Given the description of an element on the screen output the (x, y) to click on. 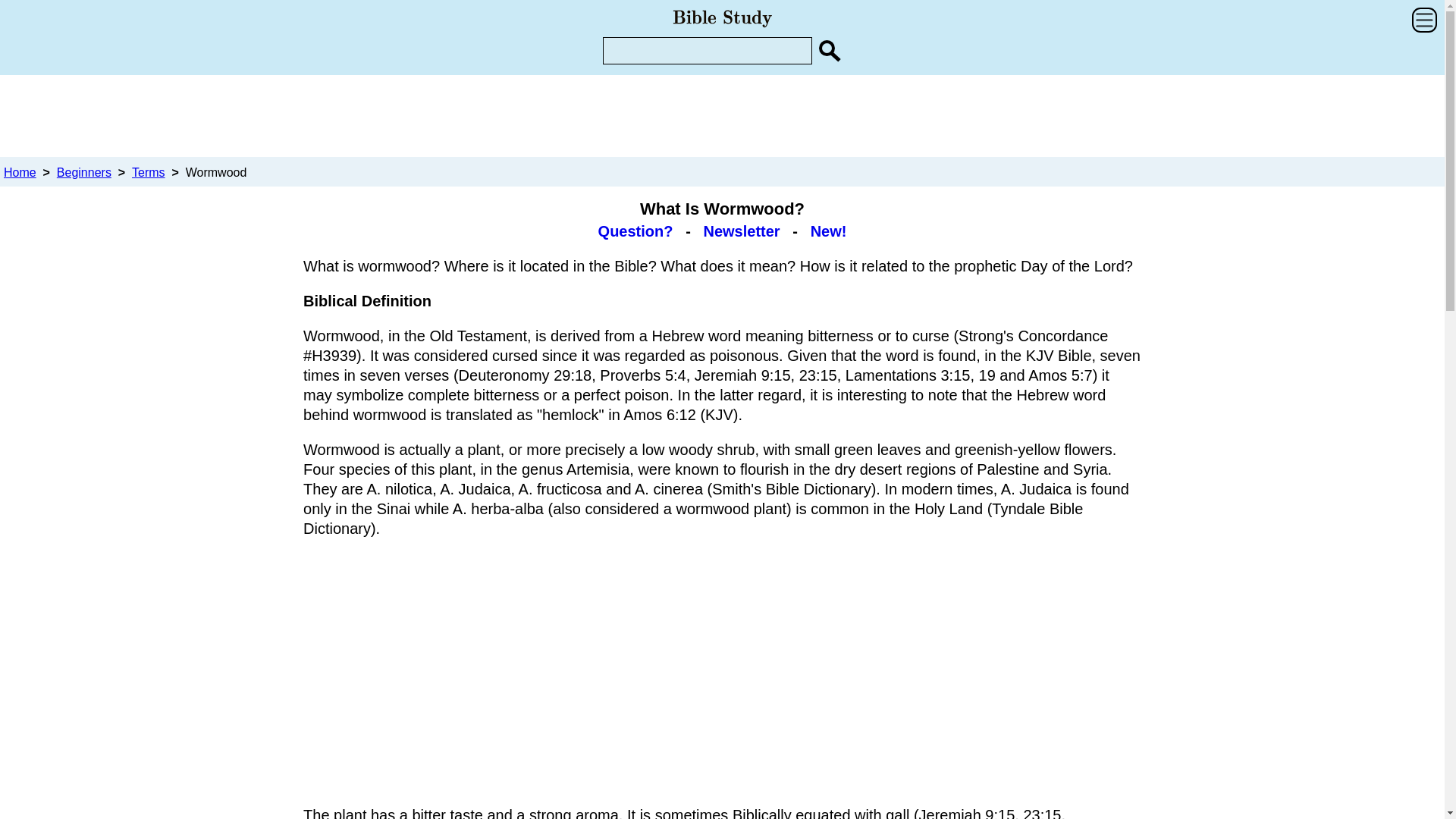
New! (828, 230)
Newsletter (740, 230)
Beginners (84, 172)
Terms (148, 172)
Question? (635, 230)
Home (20, 172)
